Given the description of an element on the screen output the (x, y) to click on. 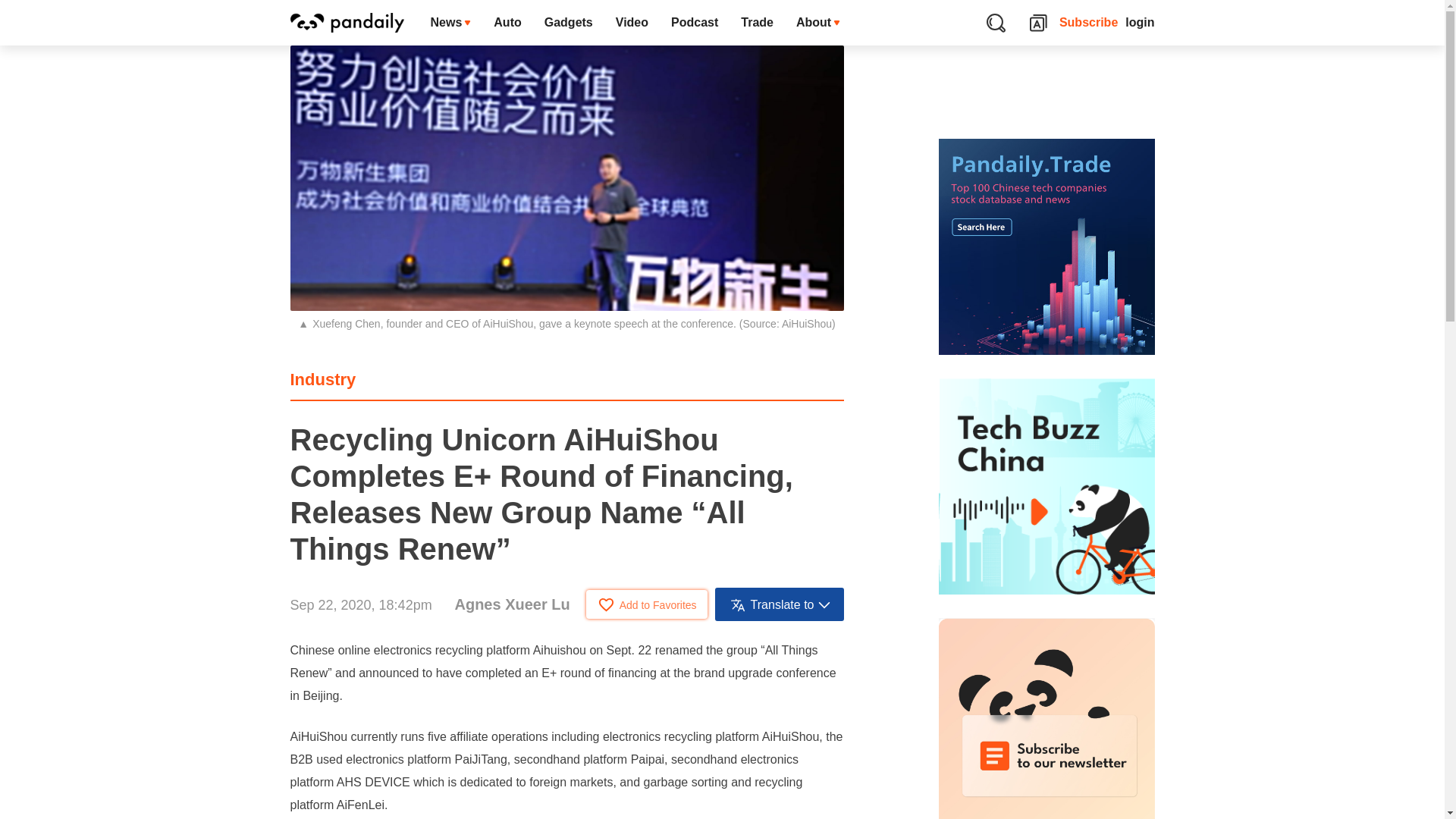
Agnes Xueer Lu (511, 604)
Add to Favorites (646, 604)
Trade (756, 22)
Podcast (694, 22)
Video (631, 22)
Industry (322, 379)
login (1139, 22)
News (450, 22)
Gadgets (568, 22)
Sep 22, 2020, 18:42pm (359, 604)
